Given the description of an element on the screen output the (x, y) to click on. 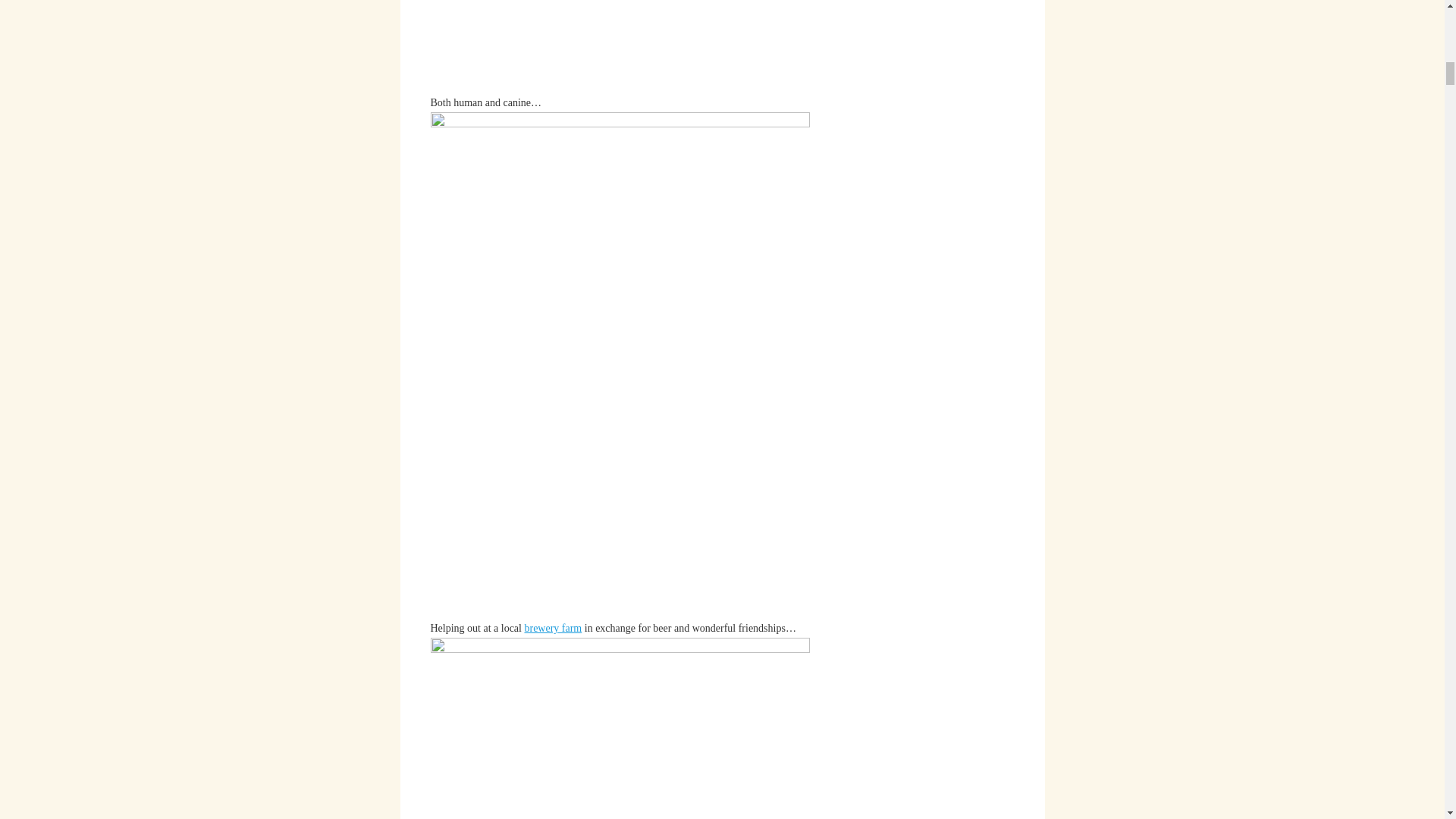
brewery farm (552, 627)
